Given the description of an element on the screen output the (x, y) to click on. 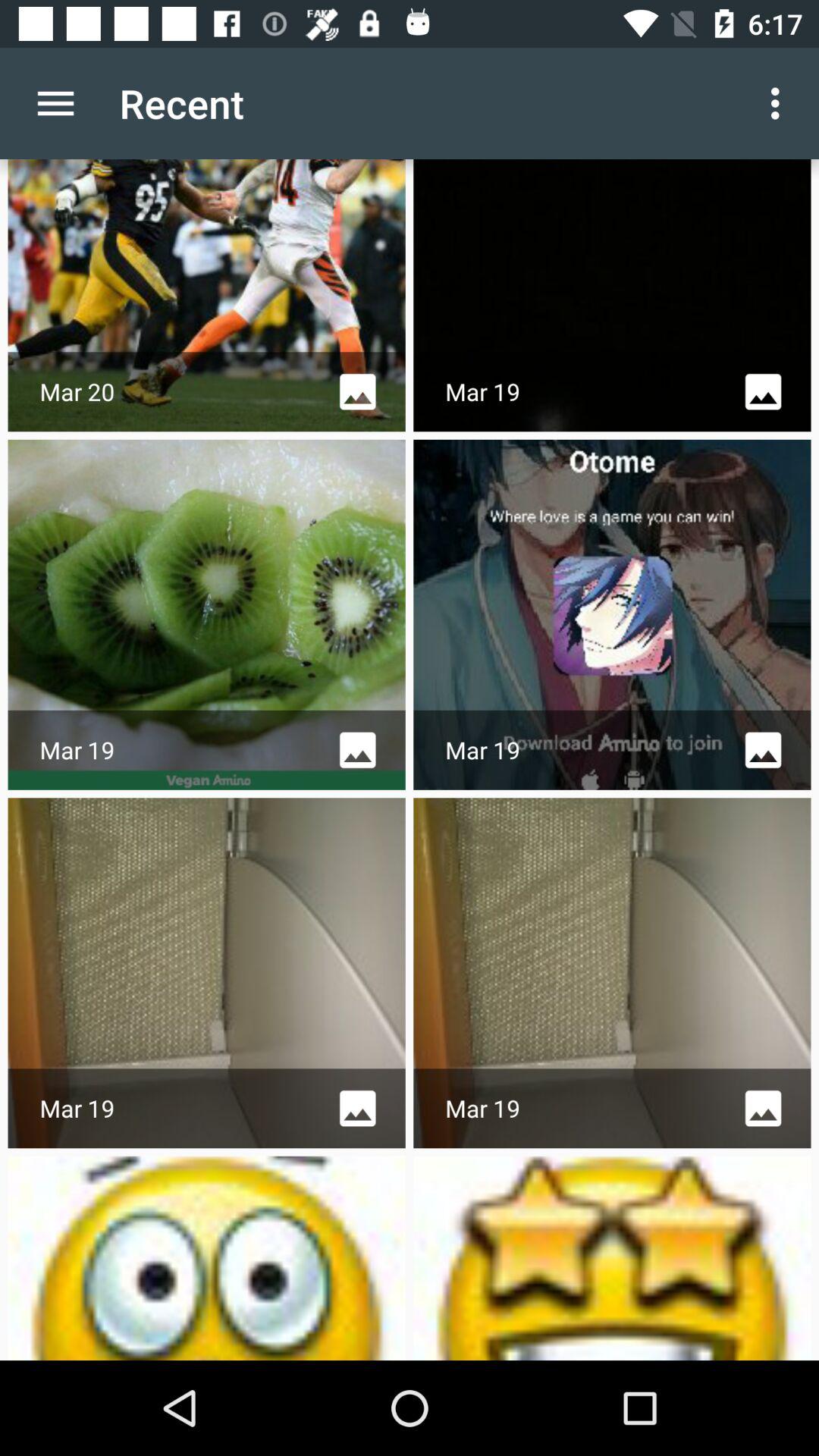
click the item to the left of recent icon (55, 103)
